Given the description of an element on the screen output the (x, y) to click on. 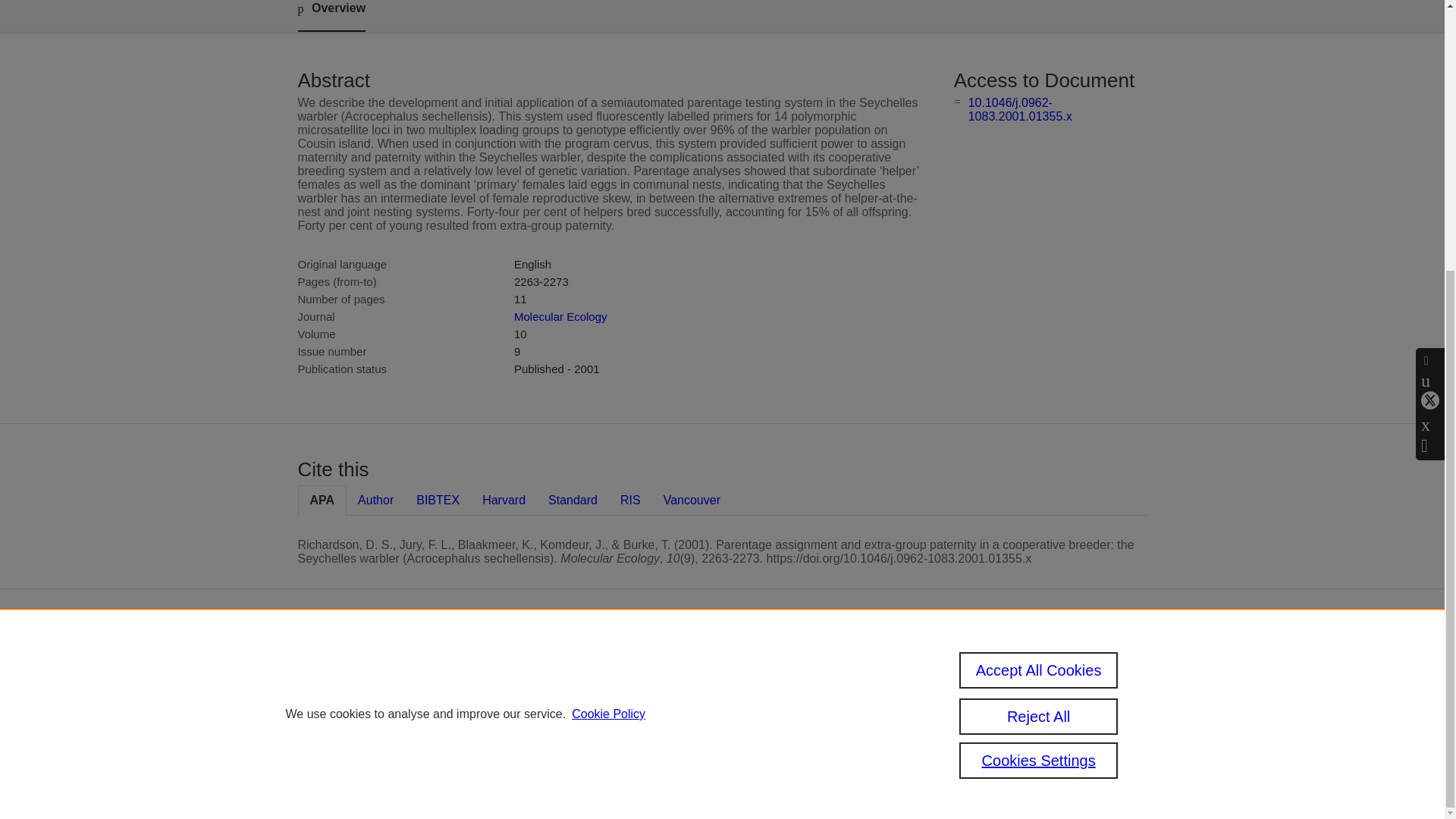
About web accessibility (1005, 712)
Pure (620, 664)
Scopus (652, 664)
Contact us (1125, 670)
Overview (331, 15)
University of East Anglia data protection policy (1027, 675)
Report vulnerability (1021, 739)
Elsevier B.V. (764, 685)
Molecular Ecology (560, 316)
Log in to Pure (584, 780)
Cookies Settings (591, 760)
use of cookies (660, 739)
